Given the description of an element on the screen output the (x, y) to click on. 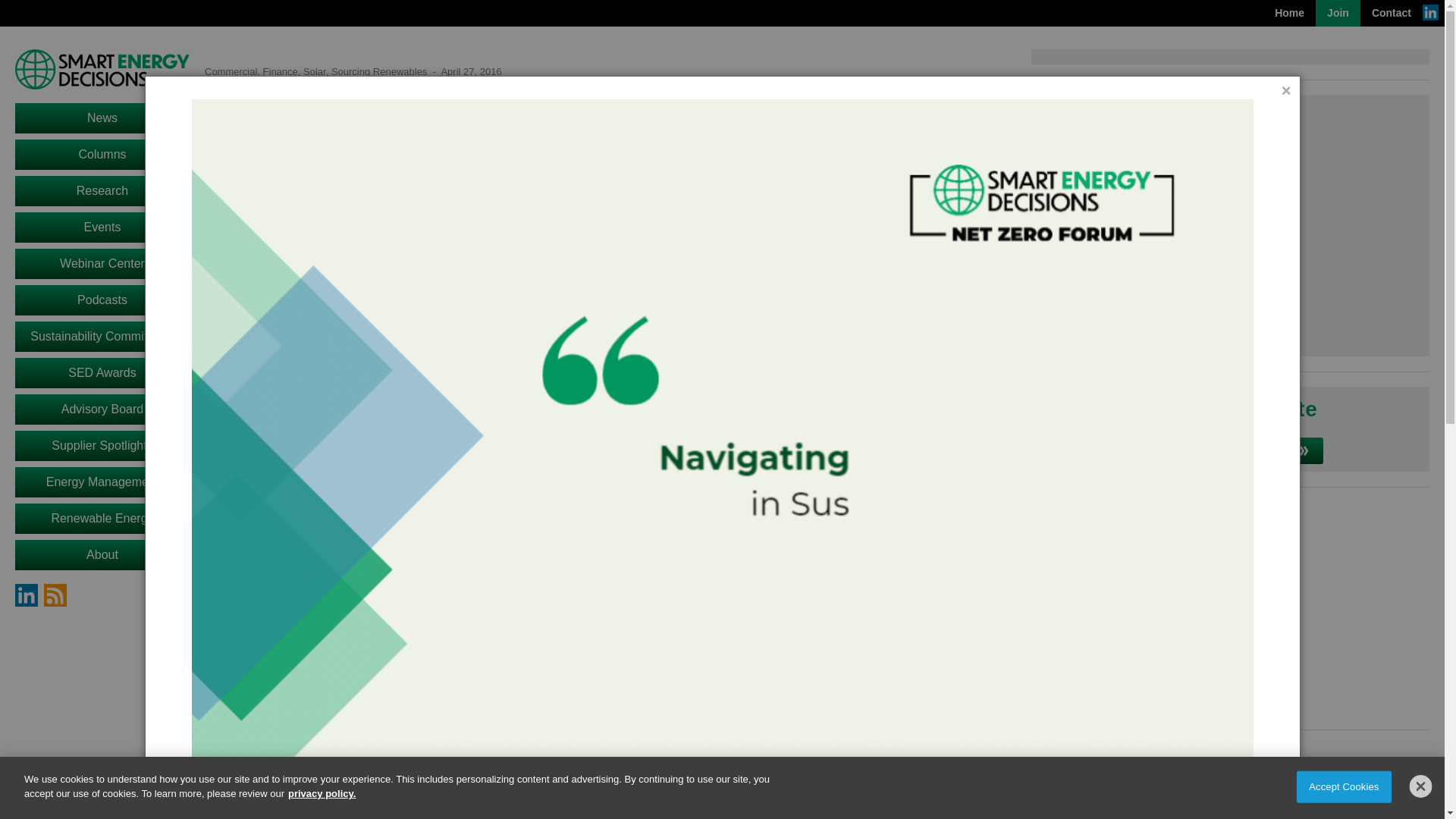
Highlights of Net Zero Forum Spring (1230, 228)
3rd party ad content (1229, 608)
